Given the description of an element on the screen output the (x, y) to click on. 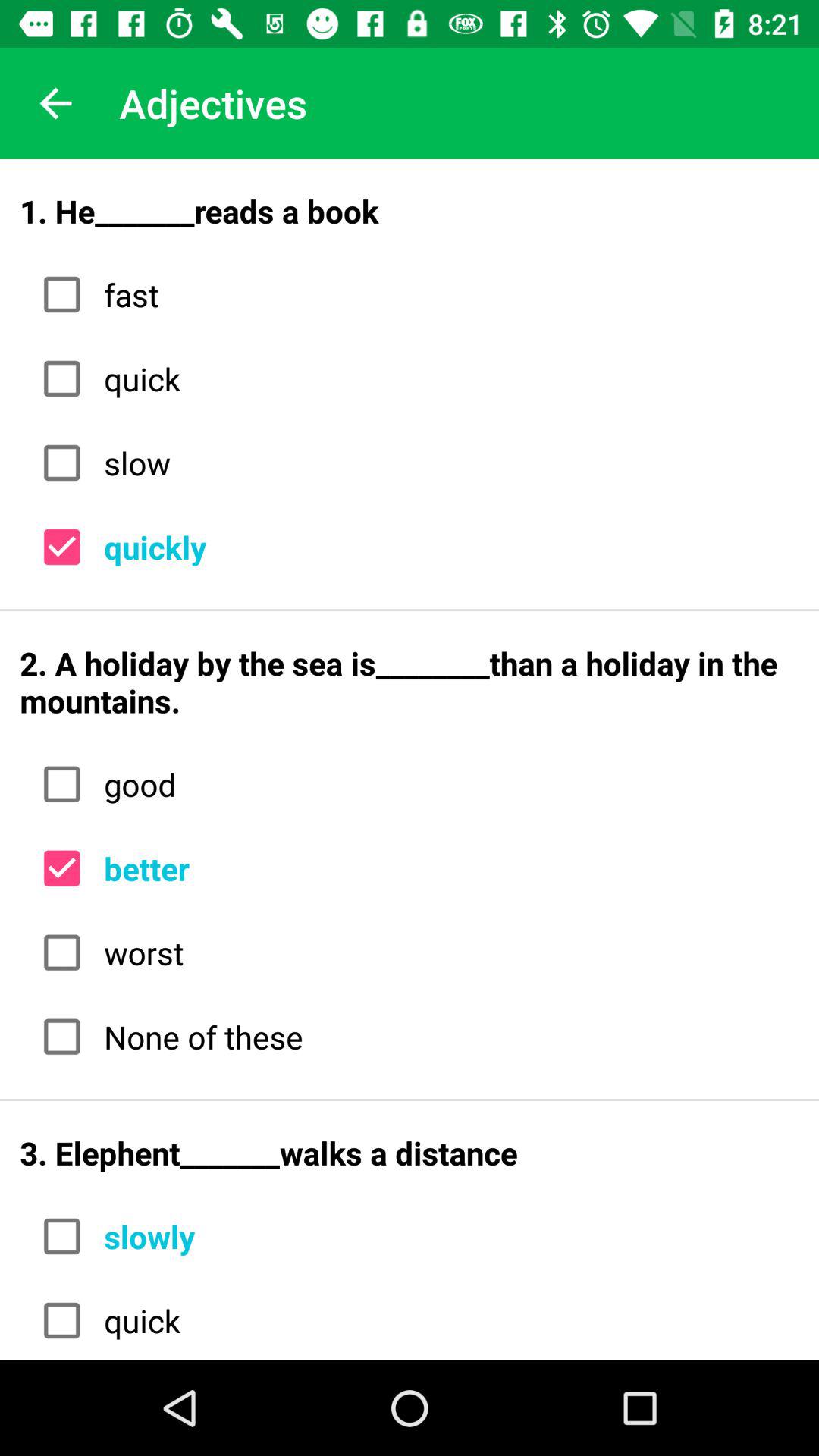
press the icon above the better icon (446, 783)
